Given the description of an element on the screen output the (x, y) to click on. 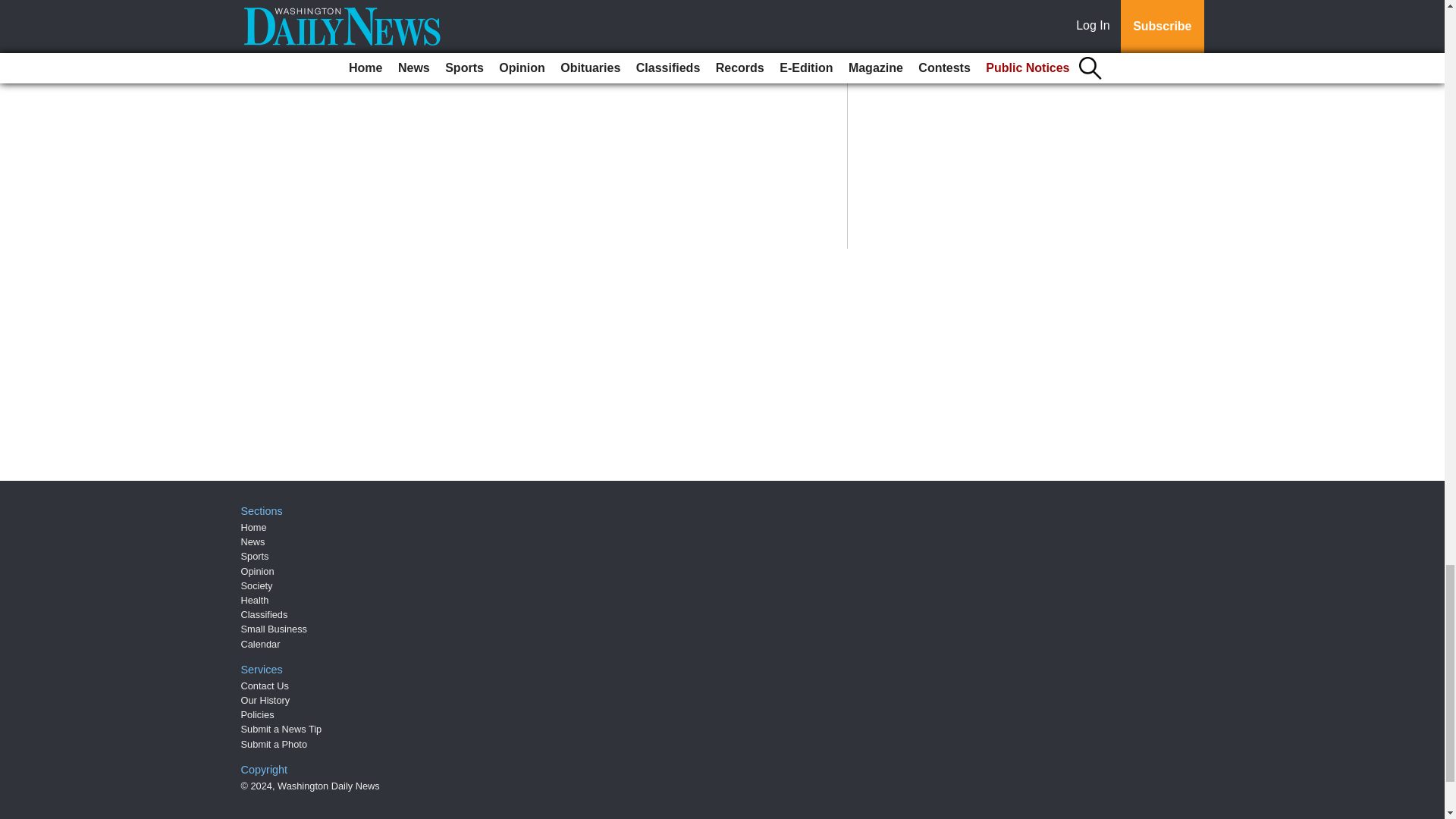
Society (257, 585)
Health (255, 600)
Small Business (274, 628)
Home (253, 527)
Sports (255, 555)
News (252, 541)
Opinion (258, 571)
Classifieds (264, 614)
